Given the description of an element on the screen output the (x, y) to click on. 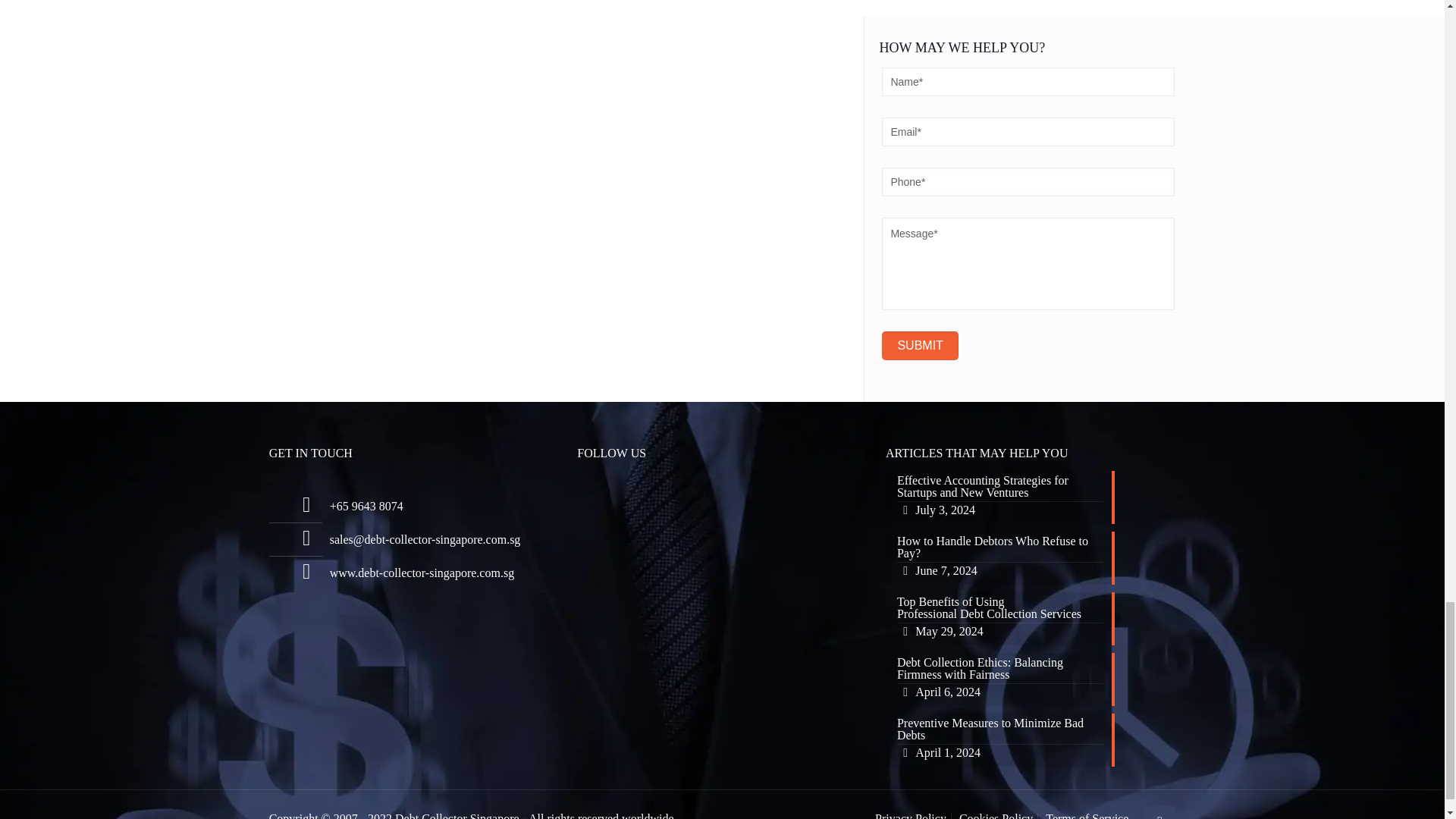
SUBMIT (920, 345)
SUBMIT (1029, 557)
www.debt-collector-singapore.com.sg (920, 345)
